Given the description of an element on the screen output the (x, y) to click on. 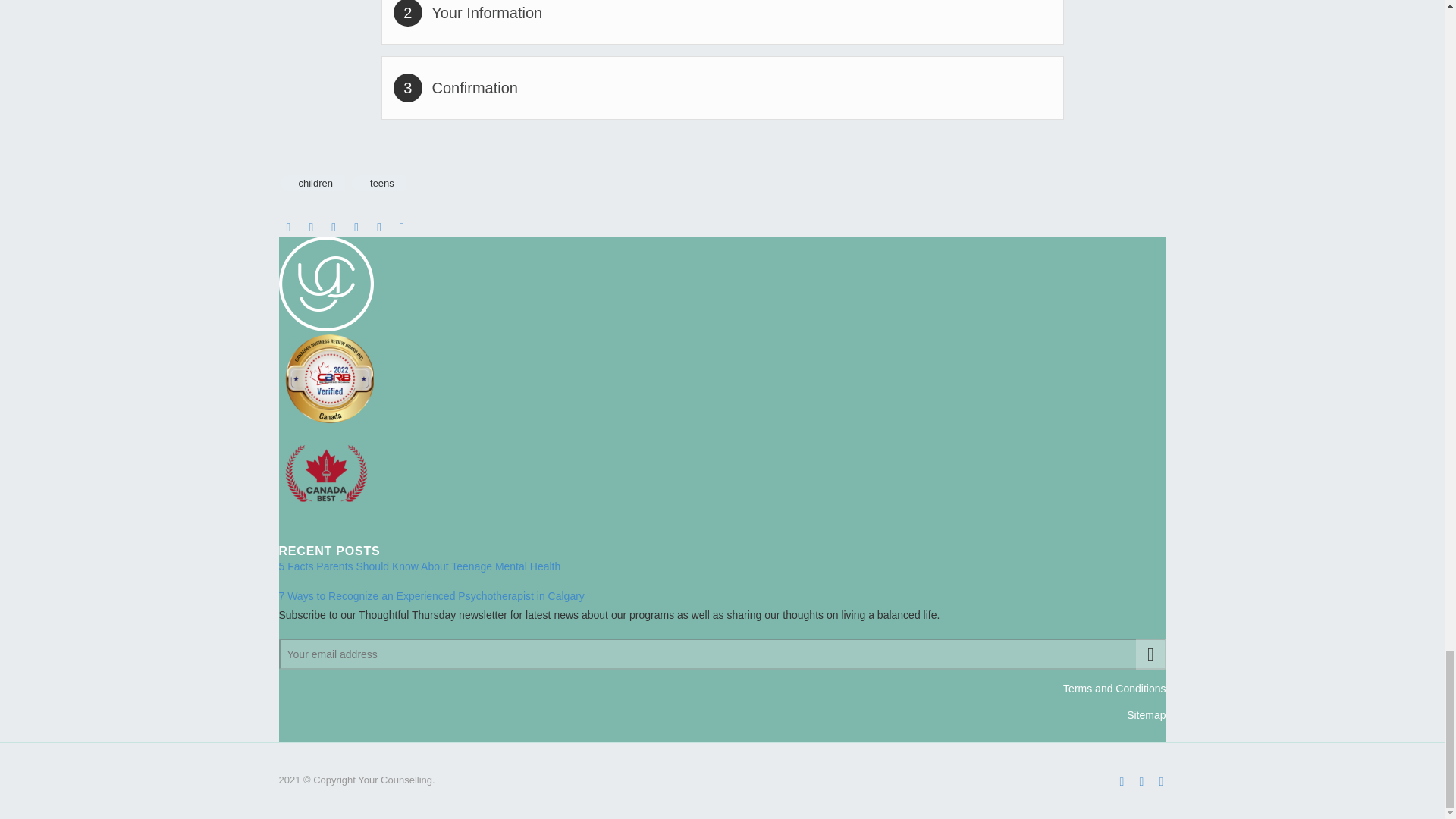
Pinterest (333, 227)
Facebook (288, 227)
CleverCanadian (326, 472)
Icon-White (326, 283)
Schedule Appointment (722, 63)
Twitter (310, 227)
Facebook (1122, 781)
LinkedIn (378, 227)
Tumblr (356, 227)
2022 CBRB Inc Logo (326, 378)
Reddit (401, 227)
